Given the description of an element on the screen output the (x, y) to click on. 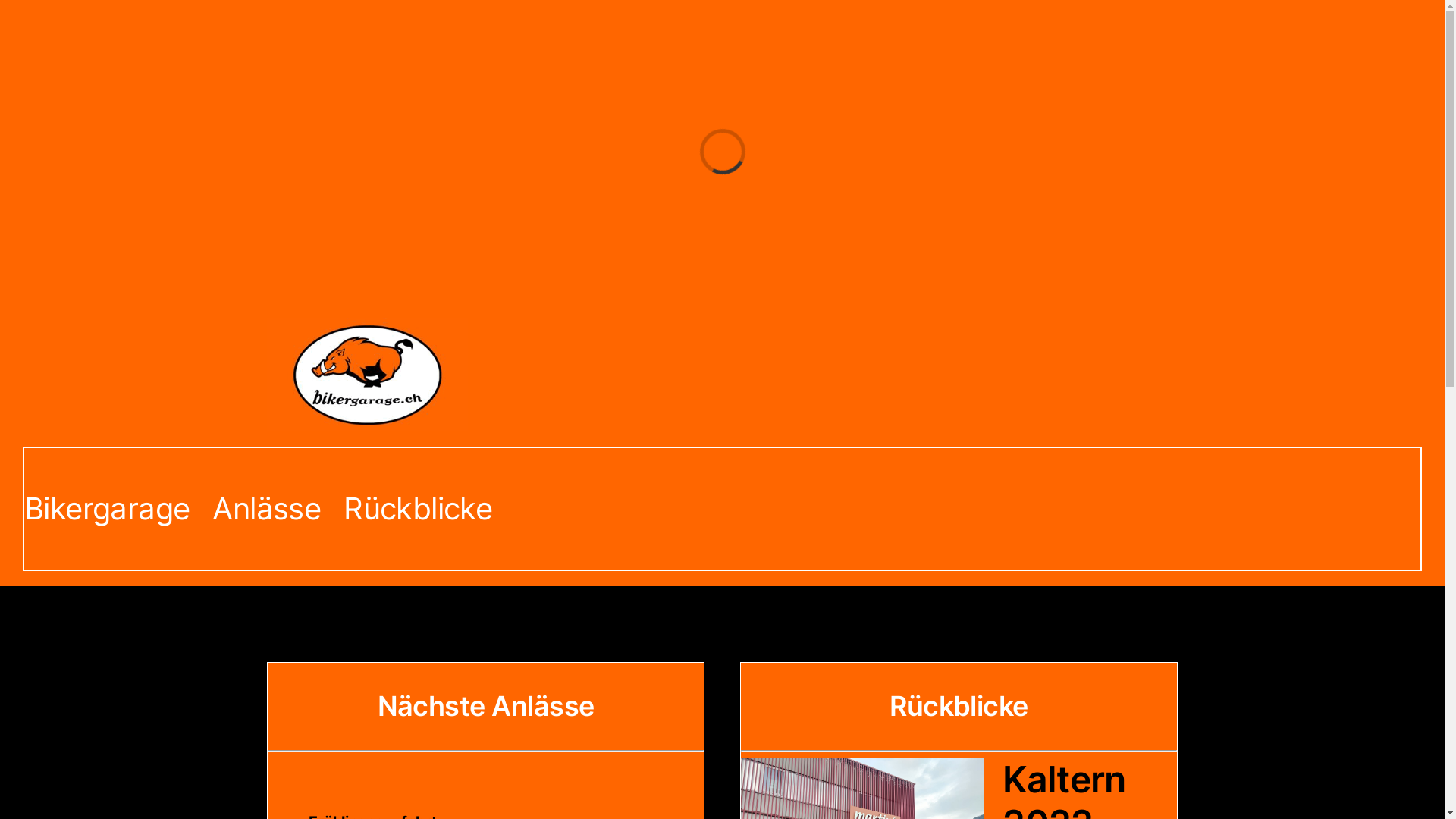
Bikergarage Element type: text (106, 508)
